Given the description of an element on the screen output the (x, y) to click on. 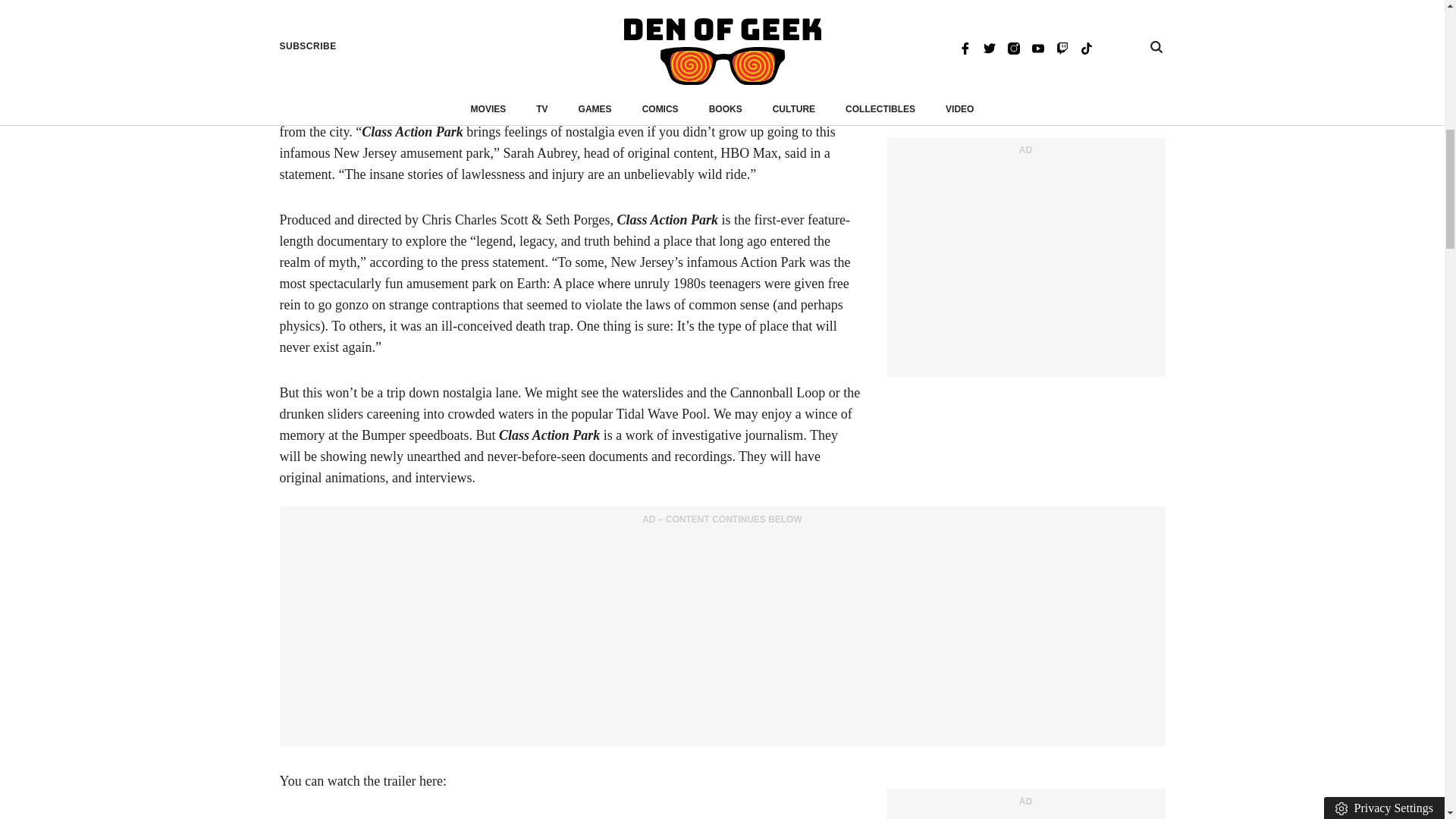
HBO Max (578, 43)
